Given the description of an element on the screen output the (x, y) to click on. 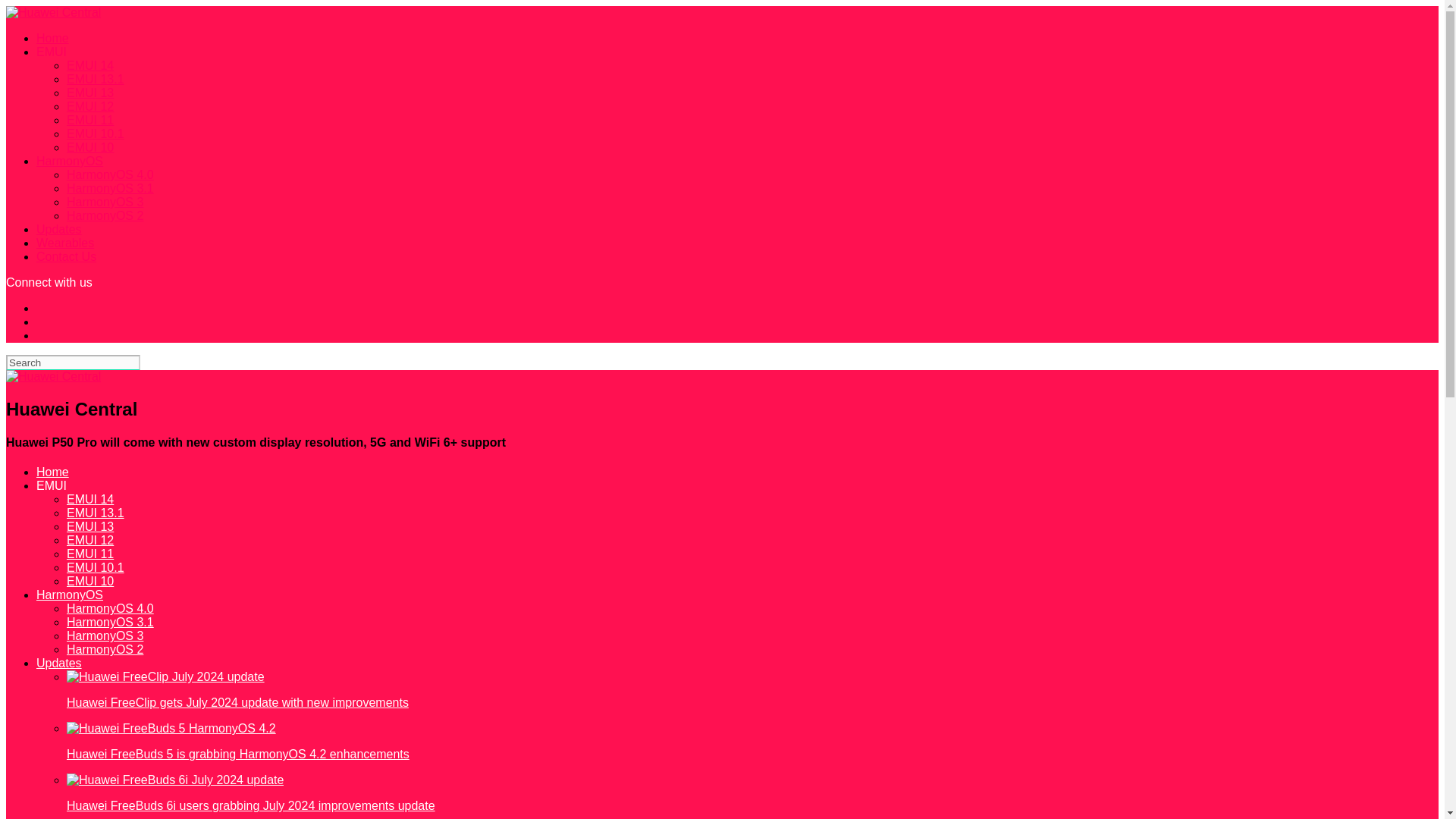
EMUI 12 (89, 106)
HarmonyOS 3.1 (110, 621)
Home (52, 38)
EMUI 14 (89, 65)
Updates (58, 662)
EMUI 10 (89, 146)
Home (52, 472)
EMUI 11 (89, 553)
EMUI 13 (89, 92)
EMUI 10 (89, 581)
Wearables (65, 242)
HarmonyOS 3 (104, 635)
EMUI 10.1 (94, 133)
EMUI 11 (89, 119)
Search (72, 362)
